Given the description of an element on the screen output the (x, y) to click on. 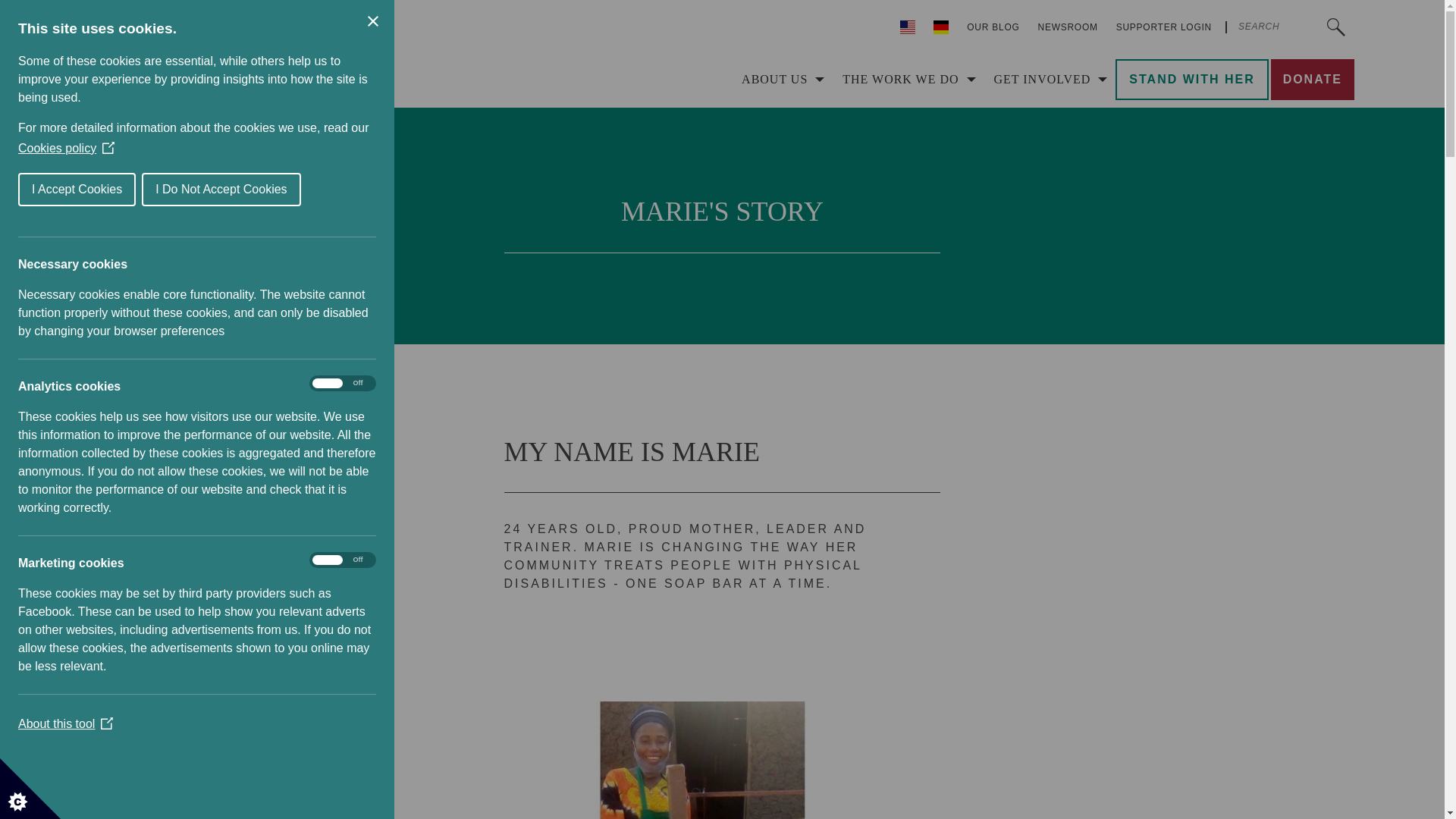
STAND WITH HER (1191, 78)
ABOUT US (779, 78)
I Accept Cookies (36, 189)
I Do Not Accept Cookies (182, 189)
GET INVOLVED (1047, 78)
DONATE (1312, 78)
SUPPORTER LOGIN (1163, 27)
THE WORK WE DO (905, 78)
Apply (1335, 27)
NEWSROOM (1067, 27)
DE (941, 27)
OUR BLOG (992, 27)
US (907, 27)
